Given the description of an element on the screen output the (x, y) to click on. 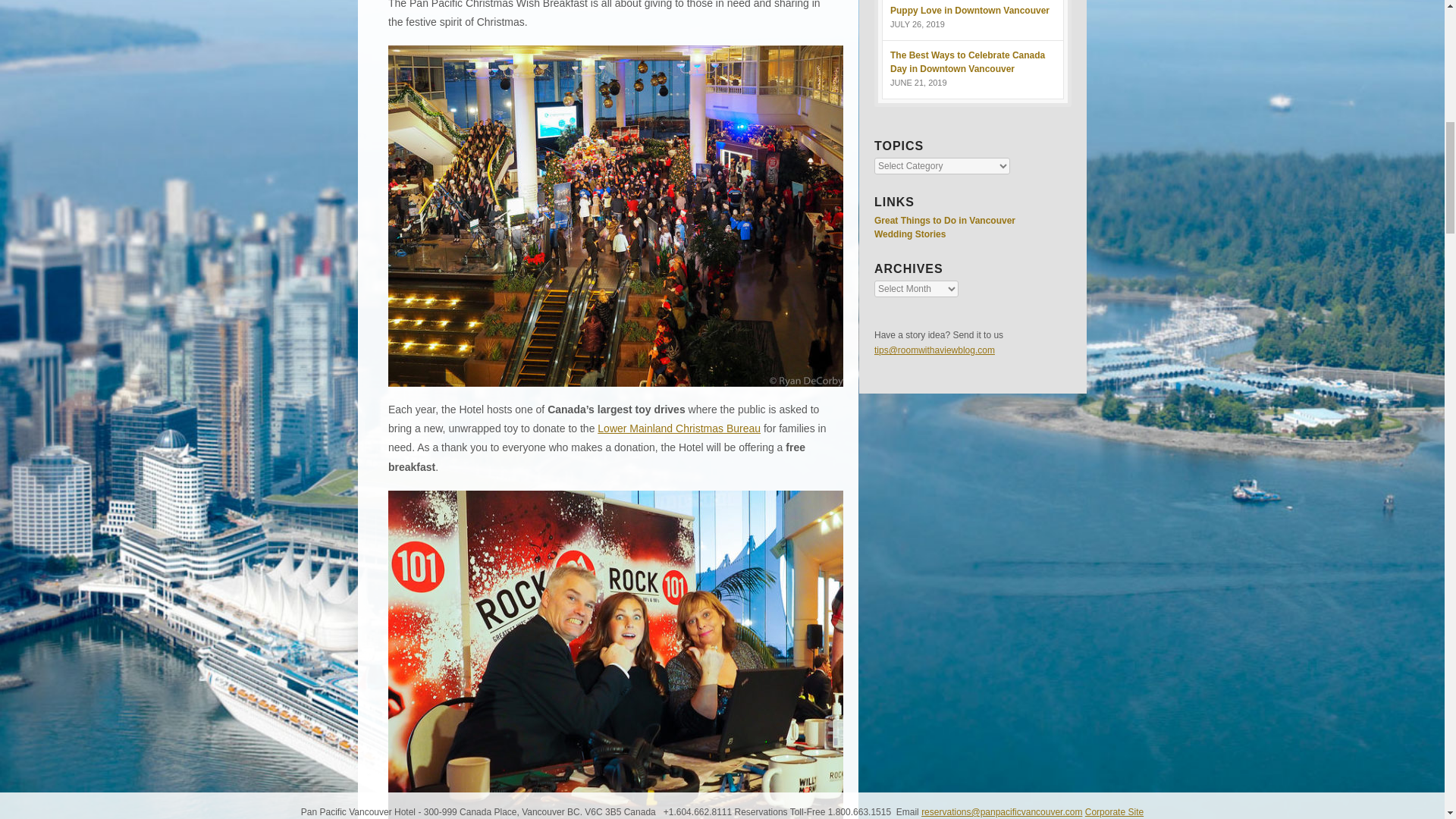
Lower Mainland Christmas Bureau (678, 428)
The Best Ways to Celebrate Canada Day in Downtown Vancouver (967, 61)
Puppy Love in Downtown Vancouver (969, 9)
